Given the description of an element on the screen output the (x, y) to click on. 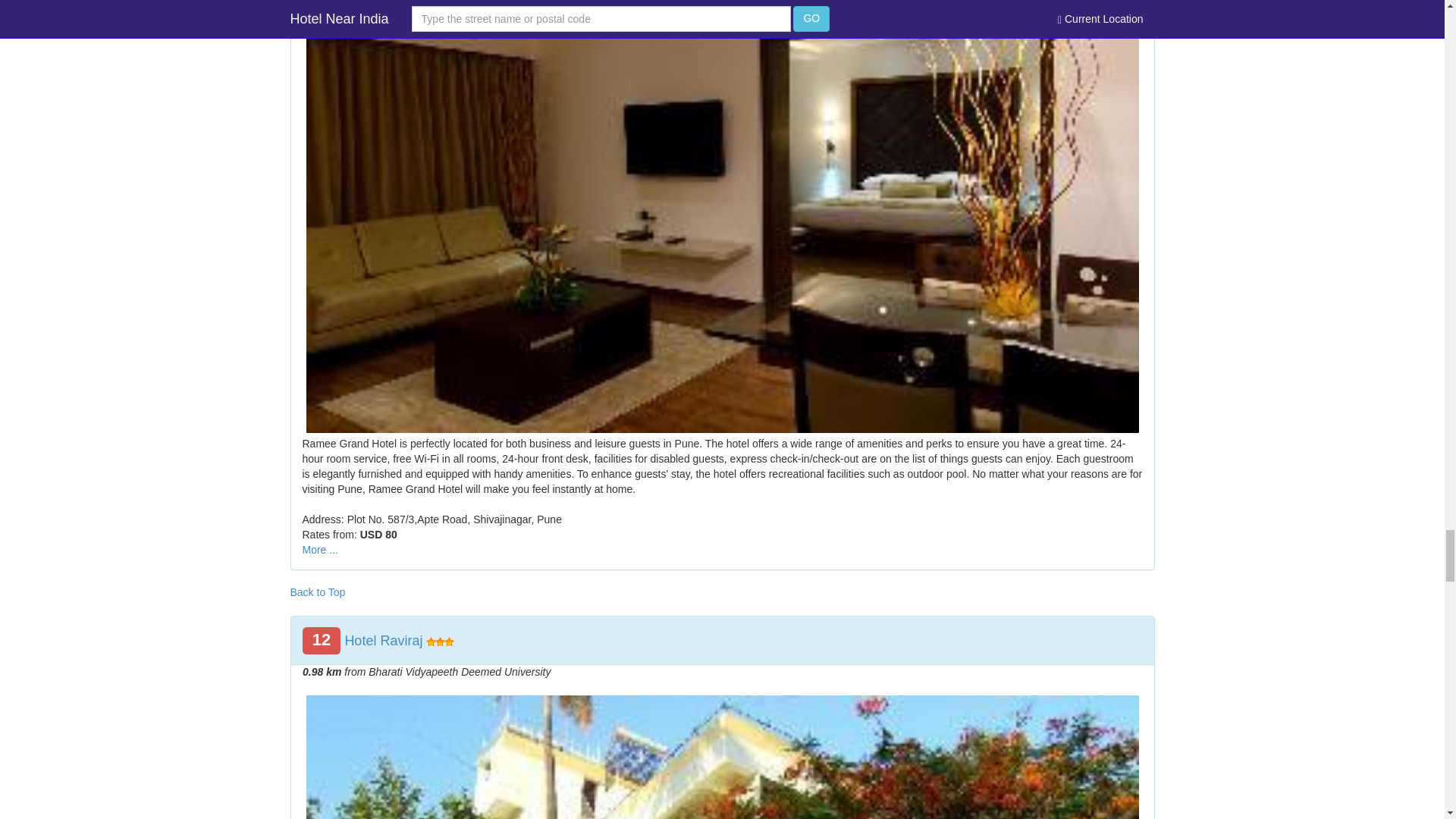
More ... (319, 549)
